Given the description of an element on the screen output the (x, y) to click on. 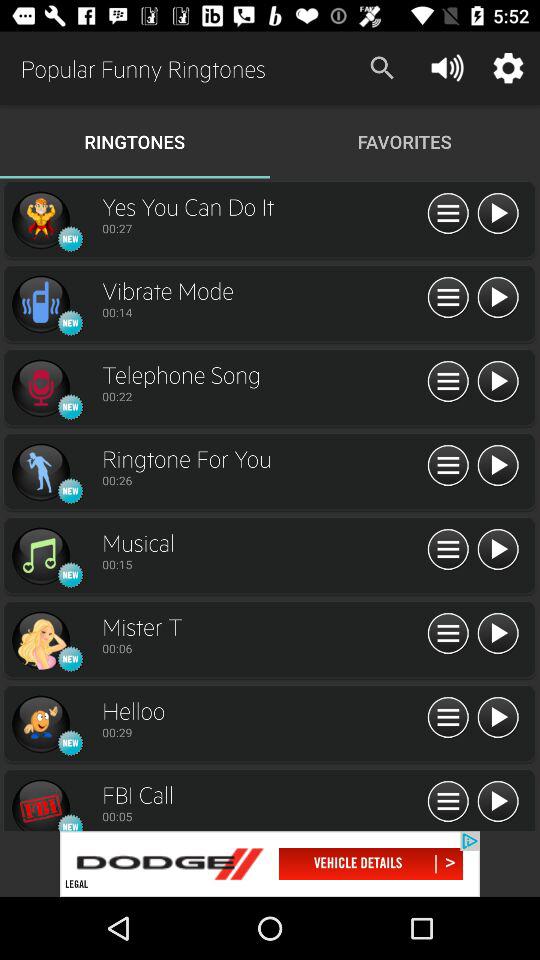
more details (447, 297)
